Given the description of an element on the screen output the (x, y) to click on. 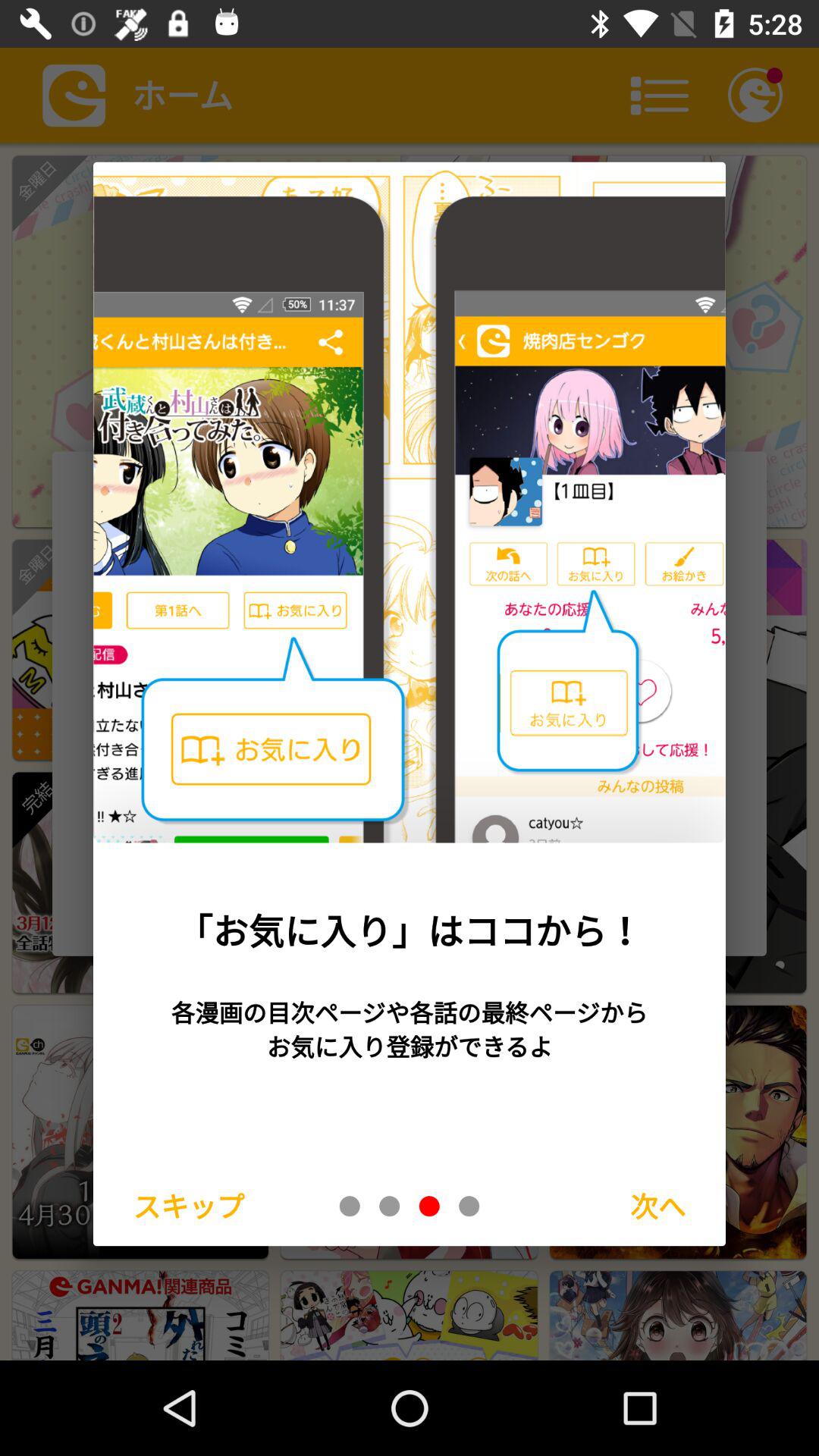
tab (349, 1206)
